Given the description of an element on the screen output the (x, y) to click on. 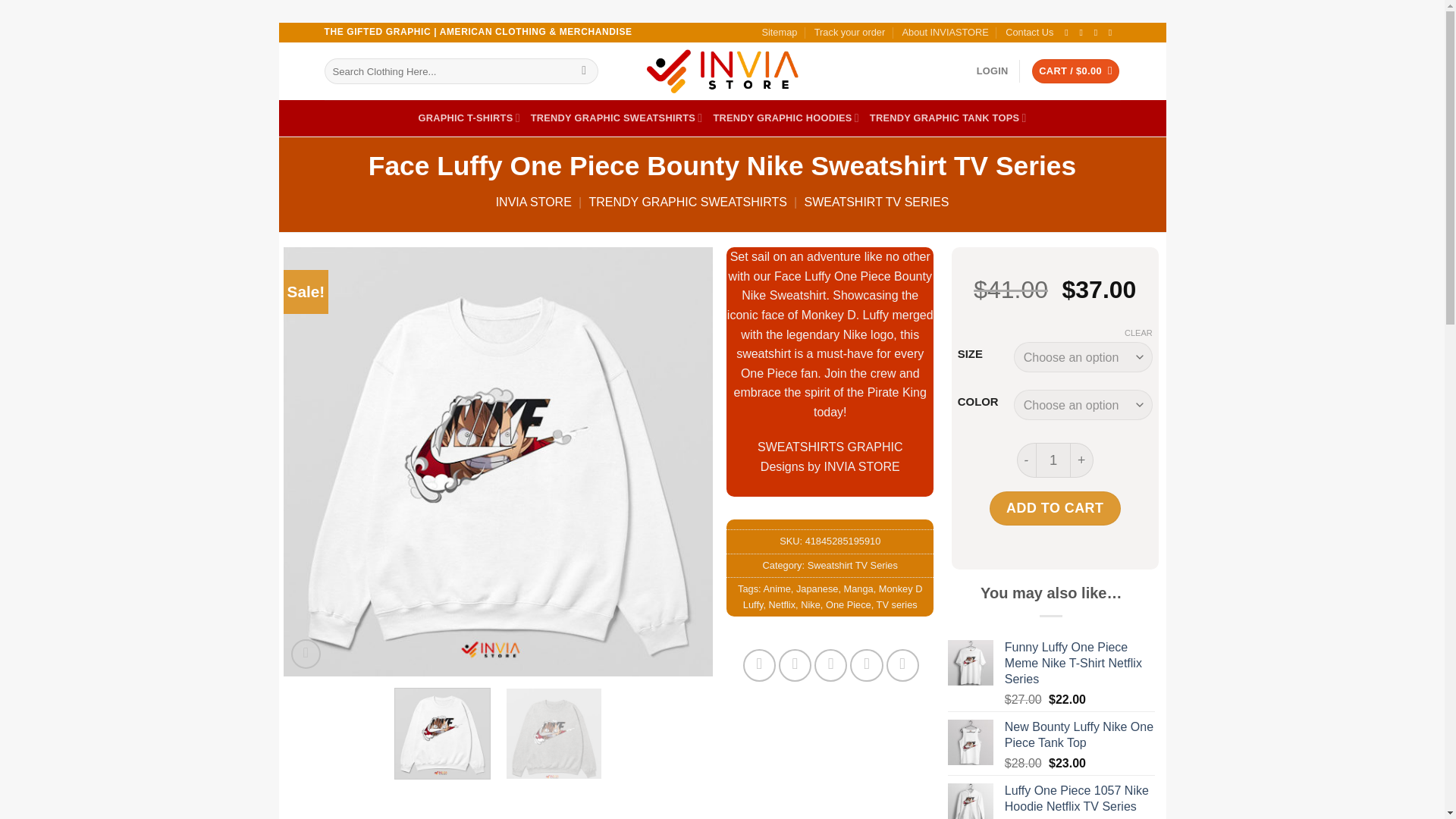
Share on Twitter (794, 665)
INVIA STORE - The Gifted American Graphic Outfits (721, 71)
TRENDY GRAPHIC HOODIES (786, 117)
GRAPHIC T-SHIRTS (468, 117)
Sitemap (778, 32)
Pin on Pinterest (866, 665)
Search (584, 71)
Zoom (305, 654)
Track your order (849, 32)
TRENDY GRAPHIC SWEATSHIRTS (617, 117)
Email to a Friend (830, 665)
Share on Facebook (759, 665)
